Given the description of an element on the screen output the (x, y) to click on. 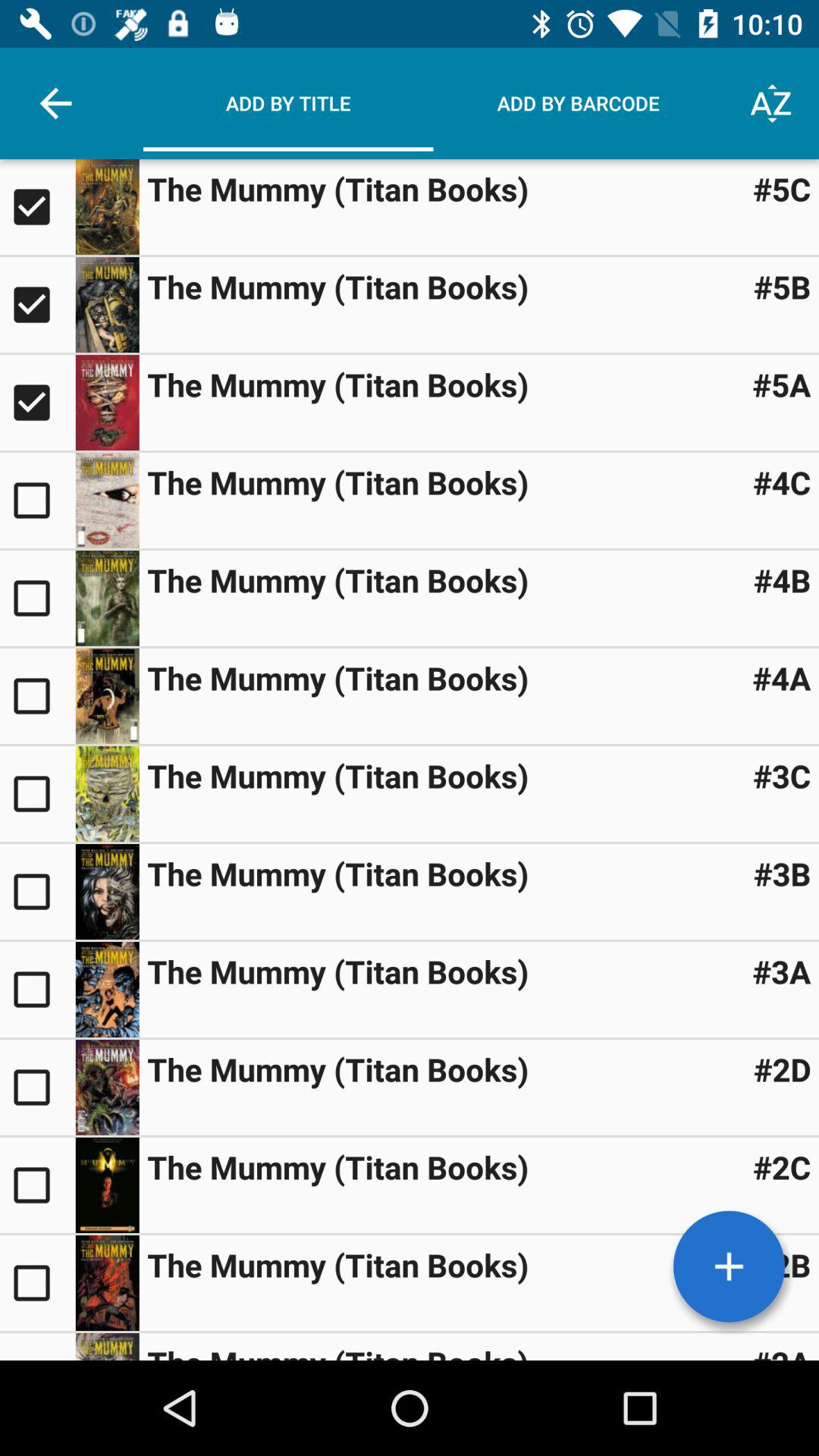
check box option (37, 989)
